Given the description of an element on the screen output the (x, y) to click on. 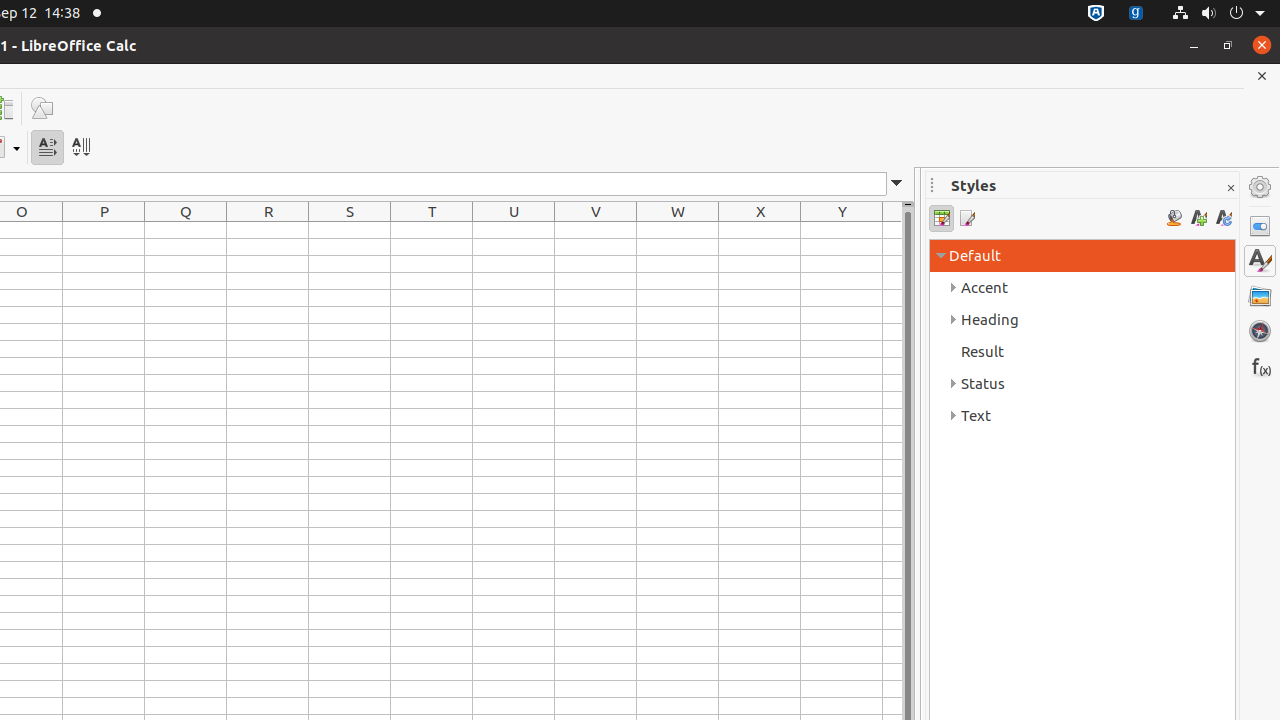
New Style from Selection Element type: push-button (1198, 218)
Properties Element type: radio-button (1260, 226)
Z1 Element type: table-cell (892, 230)
V1 Element type: table-cell (596, 230)
W1 Element type: table-cell (678, 230)
